Given the description of an element on the screen output the (x, y) to click on. 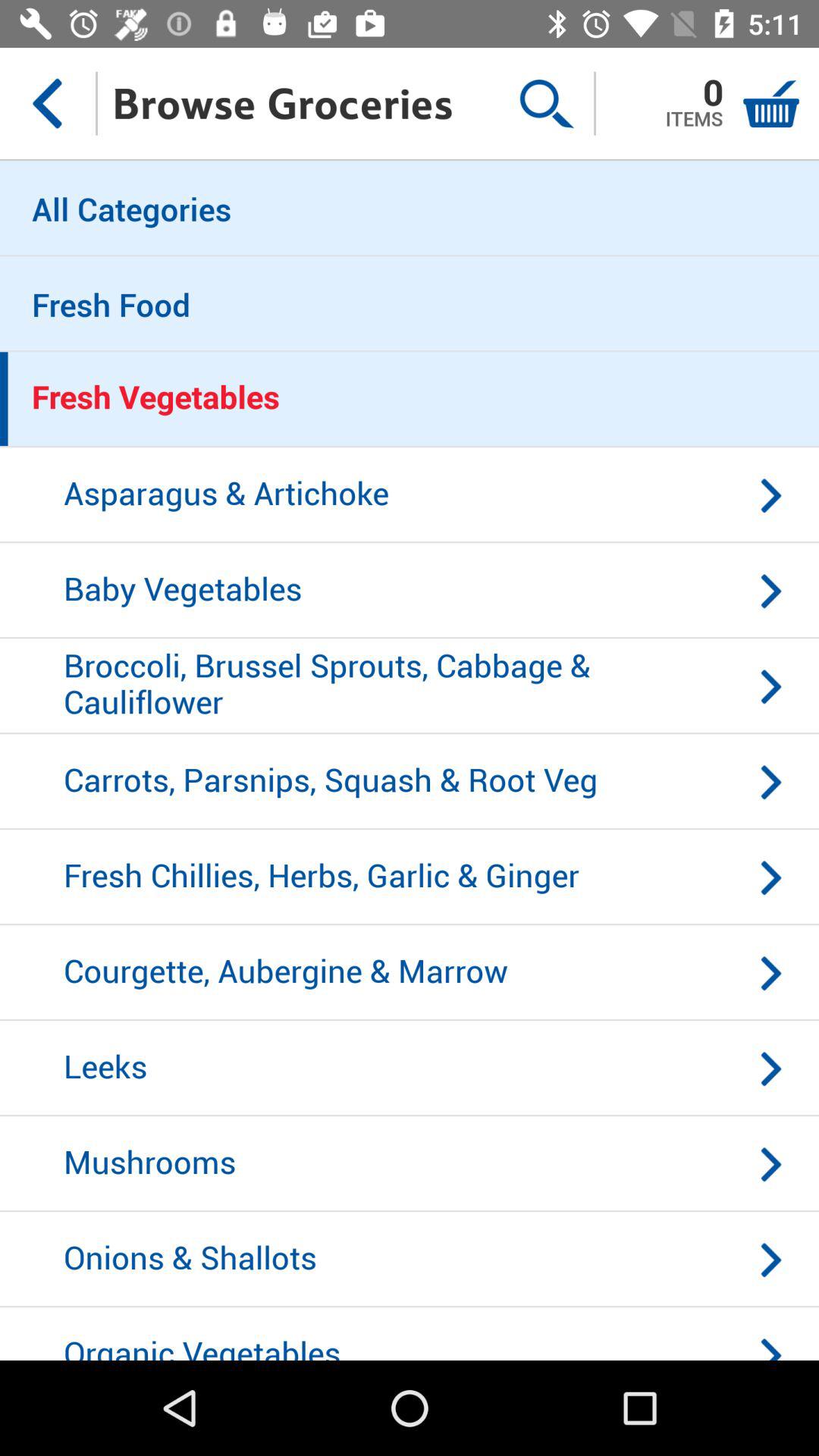
open icon above mushrooms icon (409, 1068)
